Given the description of an element on the screen output the (x, y) to click on. 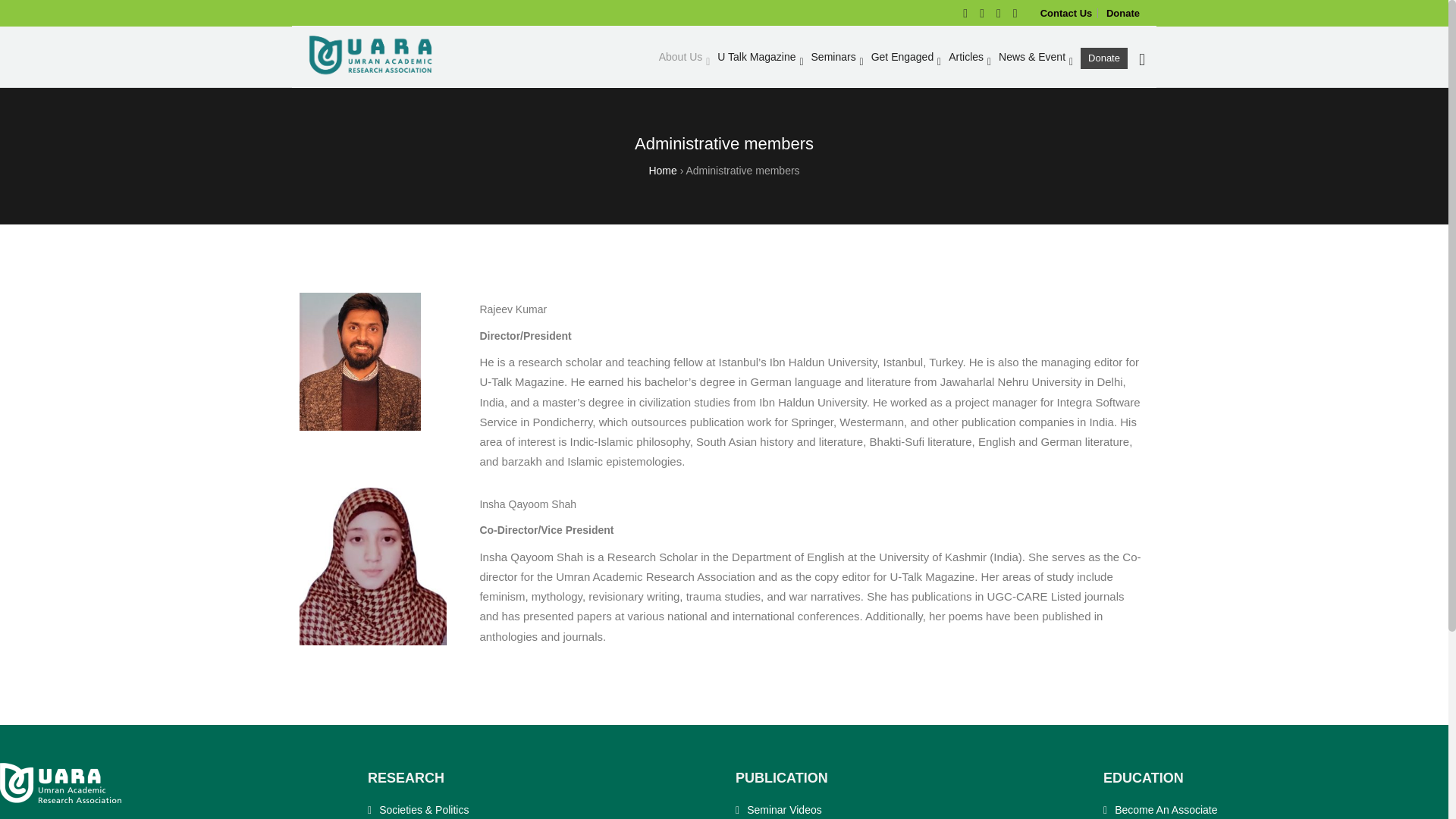
Contact Us (1067, 12)
Get Engaged (902, 57)
Donate (1123, 12)
About Us (680, 57)
Seminars (833, 57)
UARA (370, 56)
Articles (965, 57)
U Talk Magazine (756, 57)
